Given the description of an element on the screen output the (x, y) to click on. 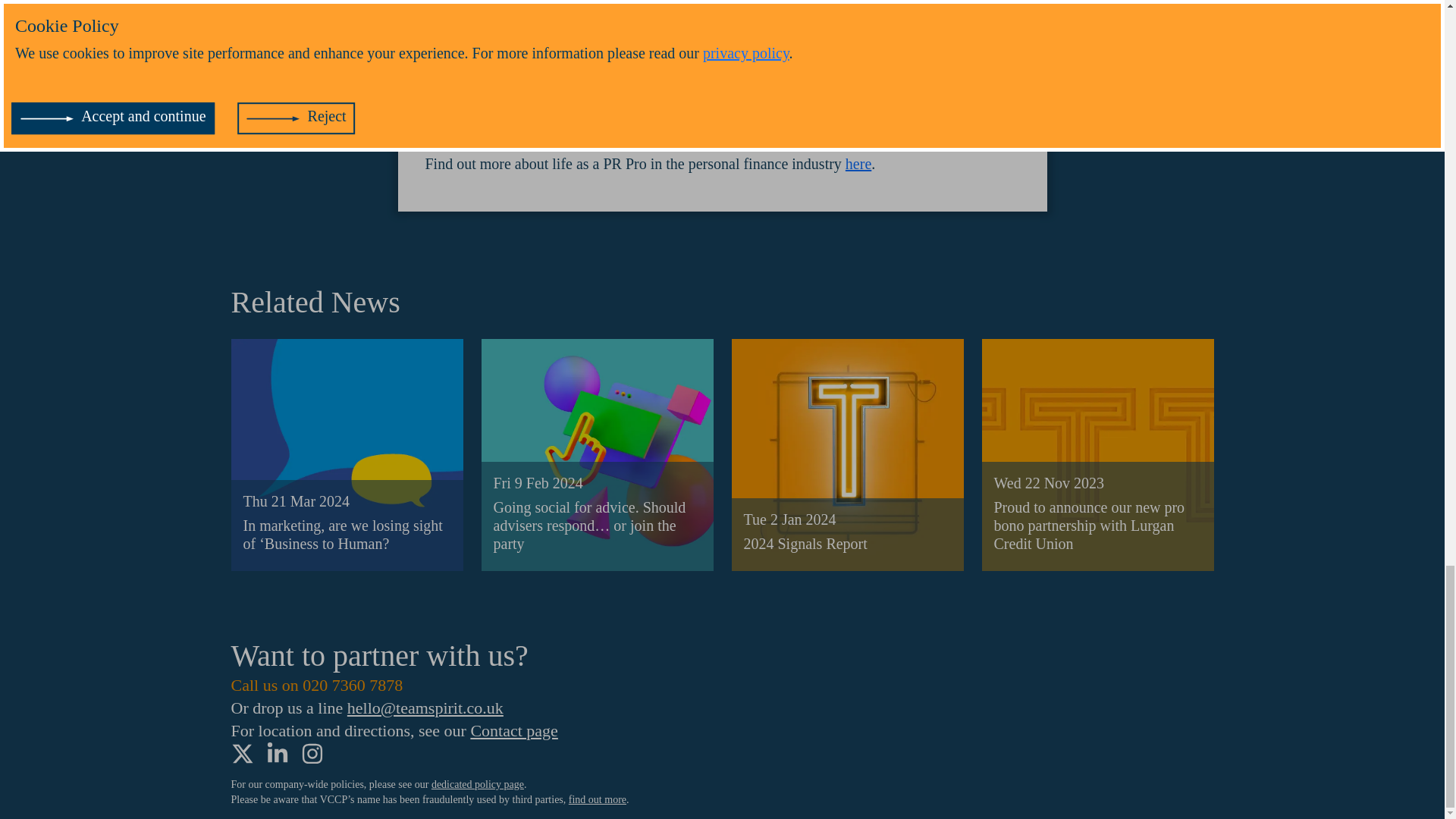
Contact page (513, 730)
find out more (597, 798)
here (857, 163)
dedicated policy page (477, 784)
